Given the description of an element on the screen output the (x, y) to click on. 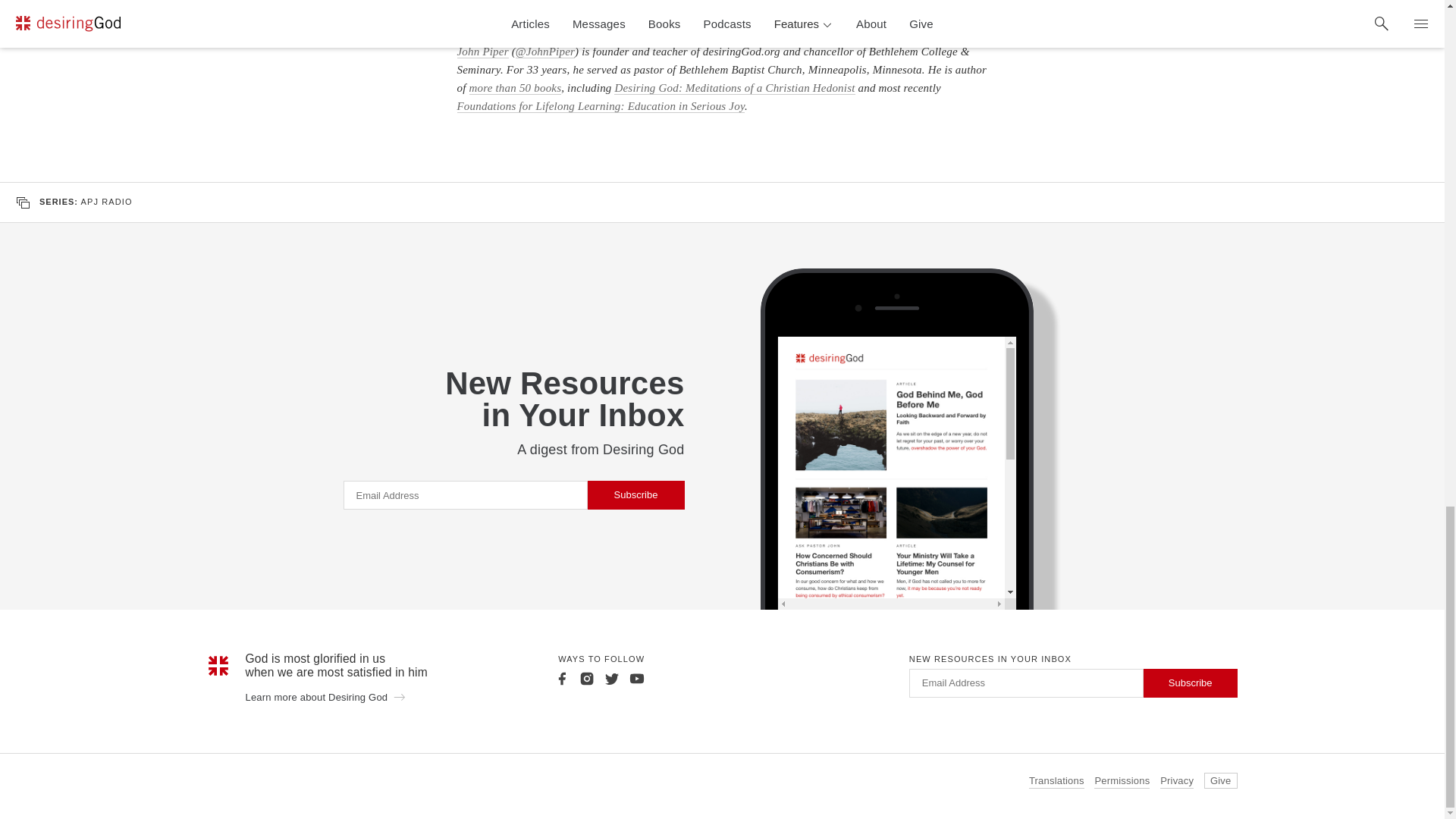
Arrow (399, 696)
Mark - Large (218, 665)
Twitter (612, 678)
